Given the description of an element on the screen output the (x, y) to click on. 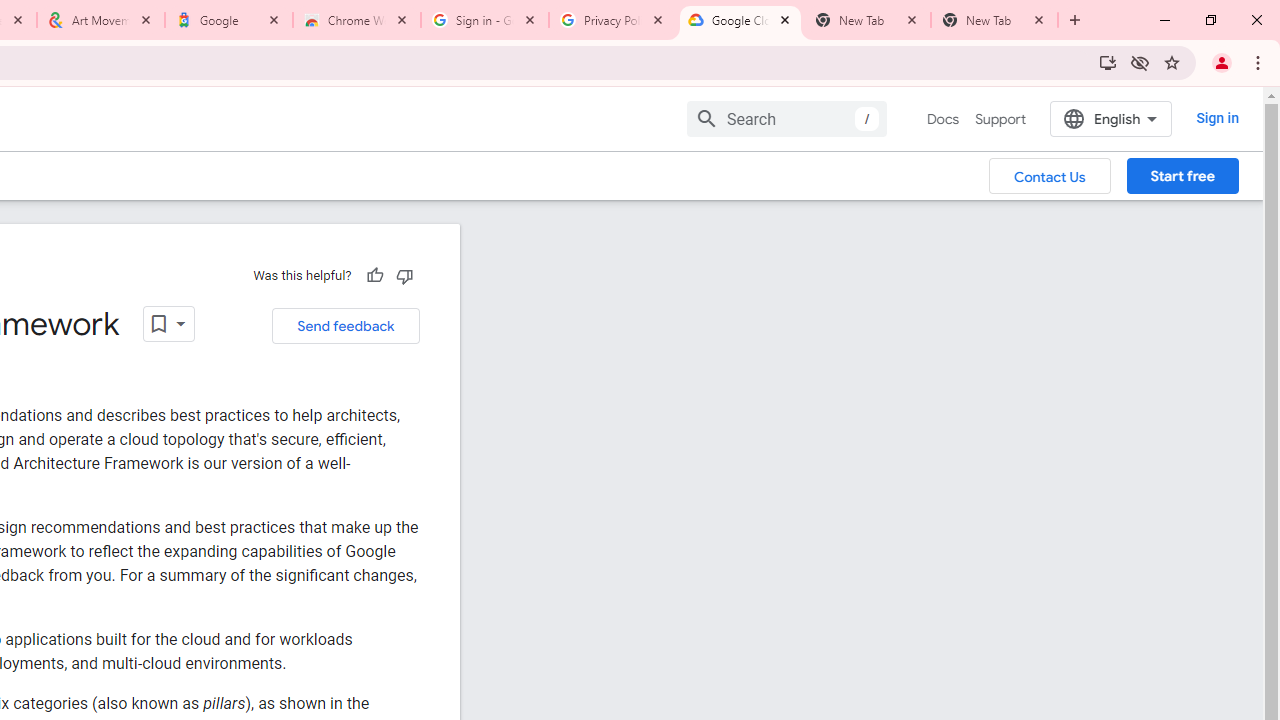
Chrome Web Store - Color themes by Chrome (357, 20)
Support (1000, 119)
Sign in - Google Accounts (485, 20)
Start free (1182, 175)
English (1110, 118)
Open dropdown (168, 324)
Send feedback (345, 326)
